Given the description of an element on the screen output the (x, y) to click on. 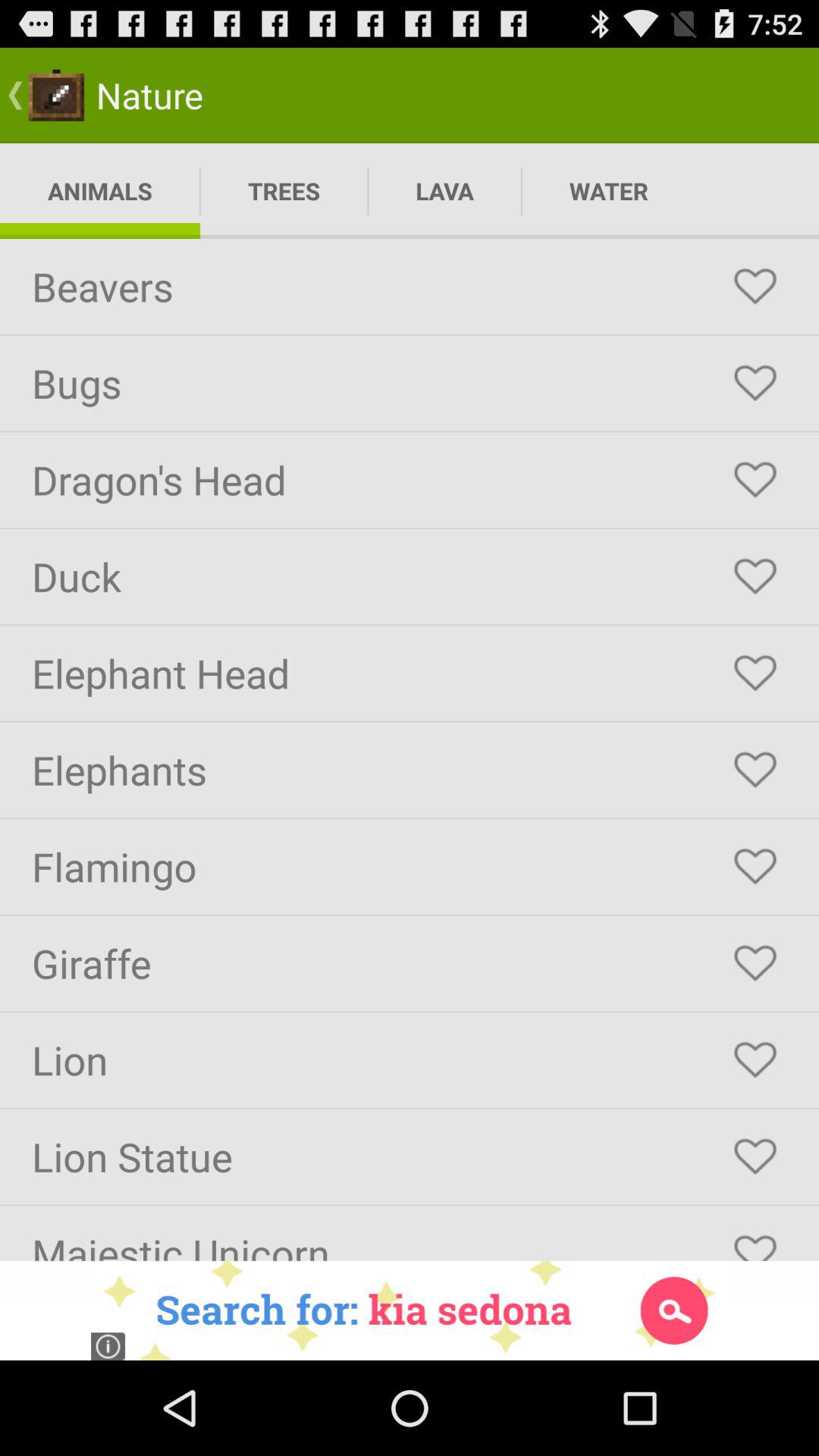
search advertisement (409, 1310)
